Given the description of an element on the screen output the (x, y) to click on. 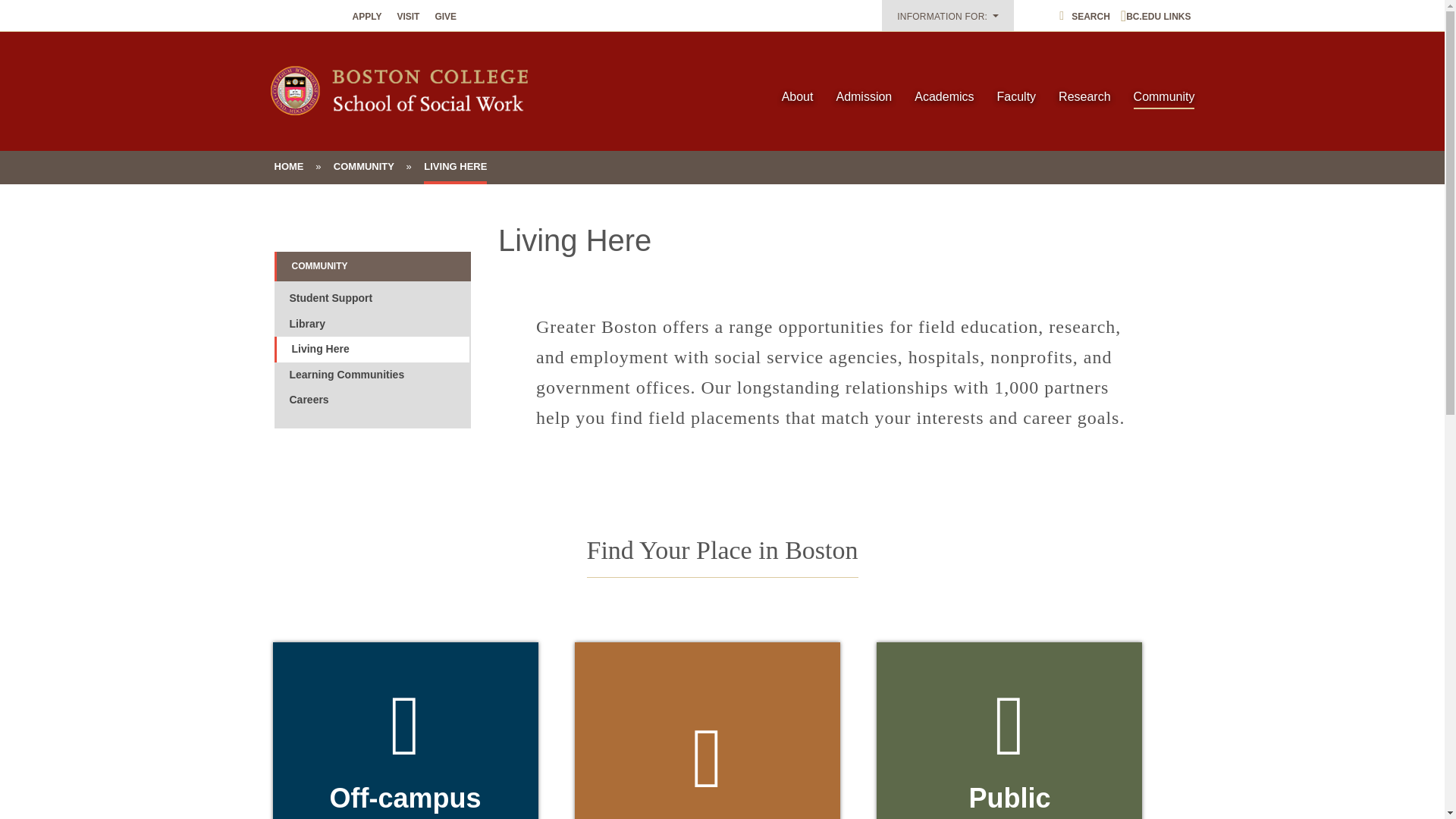
SEARCH (1084, 16)
APPLY (366, 16)
BC.EDU LINKS (1156, 16)
GIVE (445, 16)
About (797, 96)
Admission (863, 96)
Academics (944, 96)
VISIT (407, 16)
INFORMATION FOR:   (947, 15)
